Given the description of an element on the screen output the (x, y) to click on. 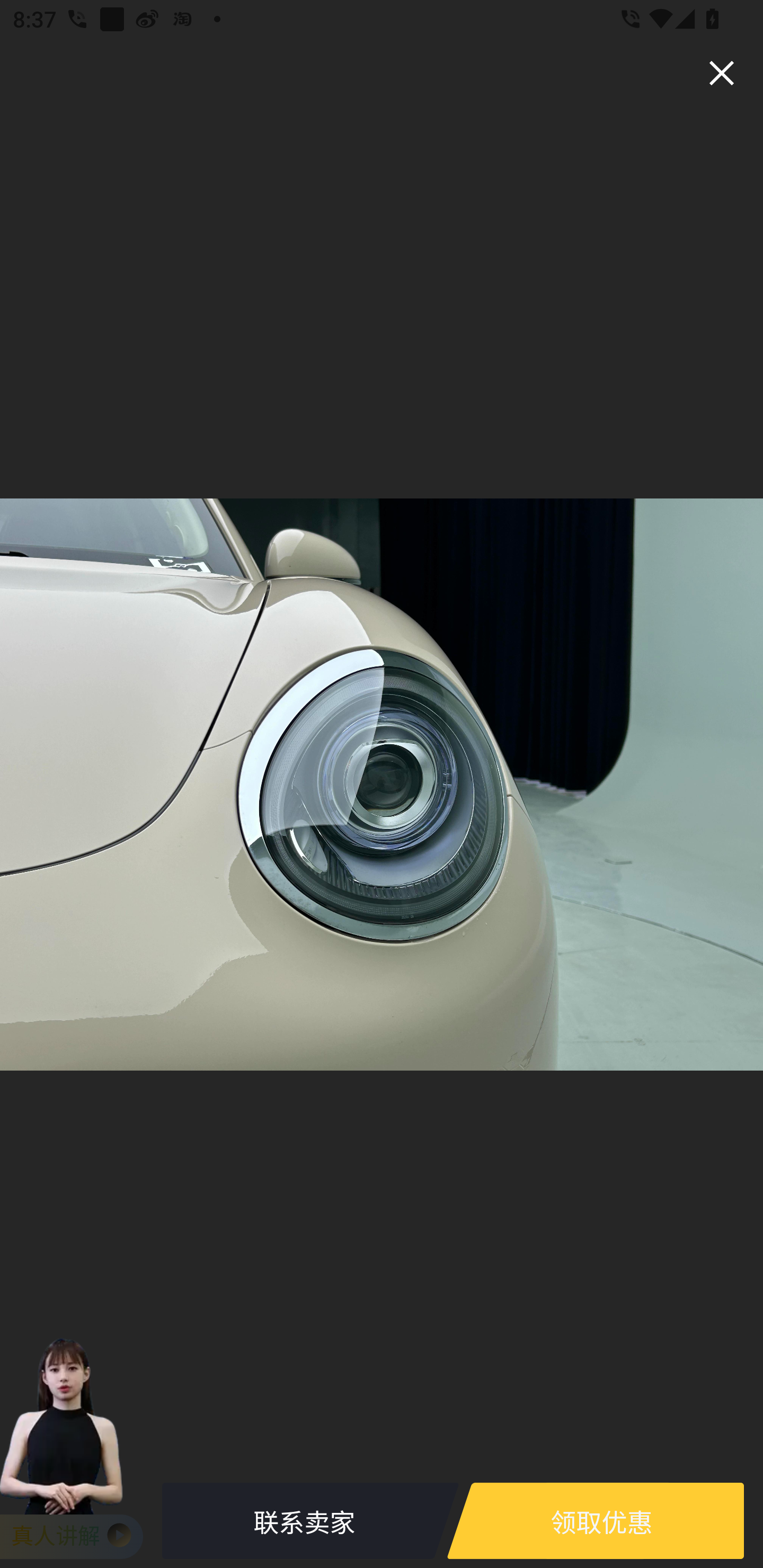
联系卖家 (303, 1520)
领取优惠 (601, 1520)
